Given the description of an element on the screen output the (x, y) to click on. 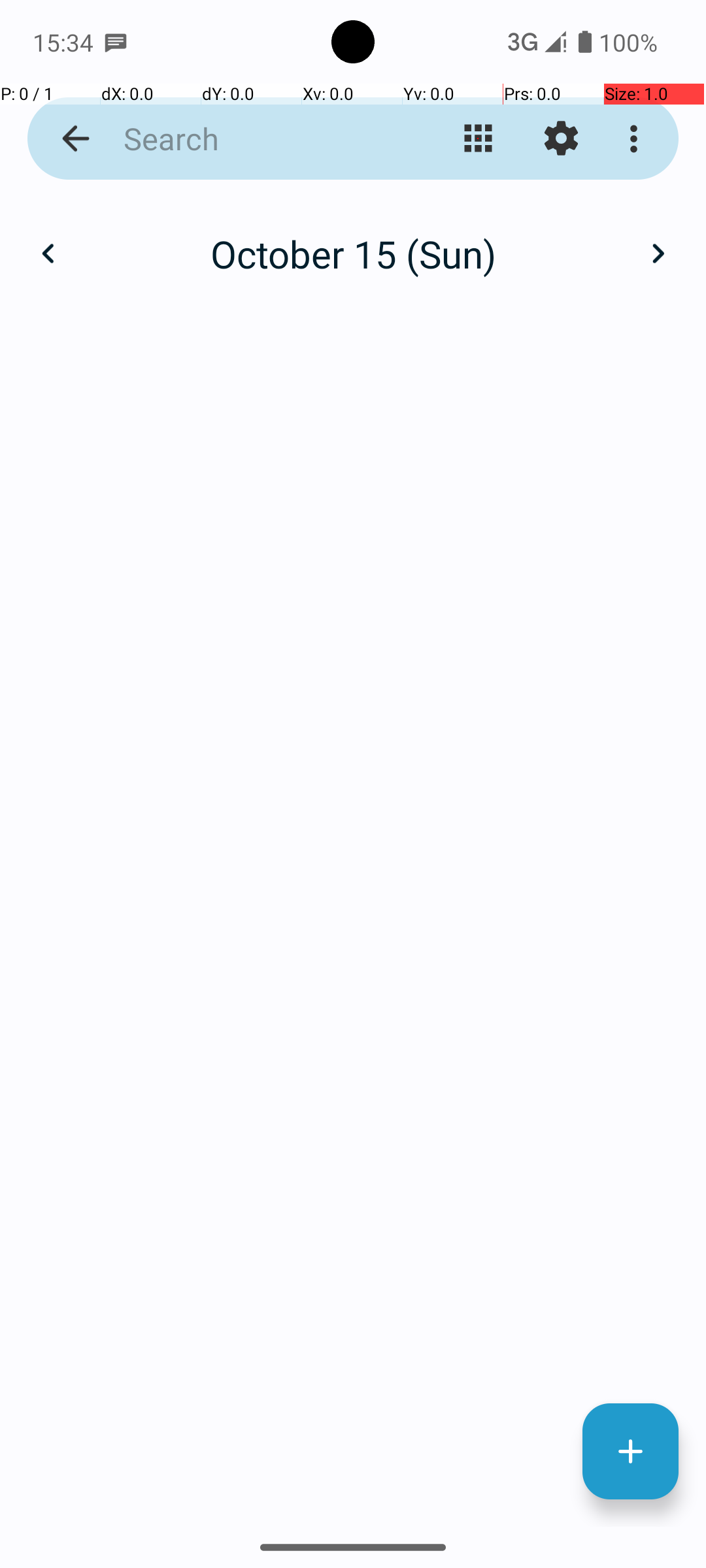
Change view Element type: android.widget.Button (477, 138)
New Event Element type: android.widget.ImageButton (630, 1451)
October Element type: android.widget.TextView (352, 239)
October 15 (Sun) Element type: android.widget.TextView (352, 253)
